Given the description of an element on the screen output the (x, y) to click on. 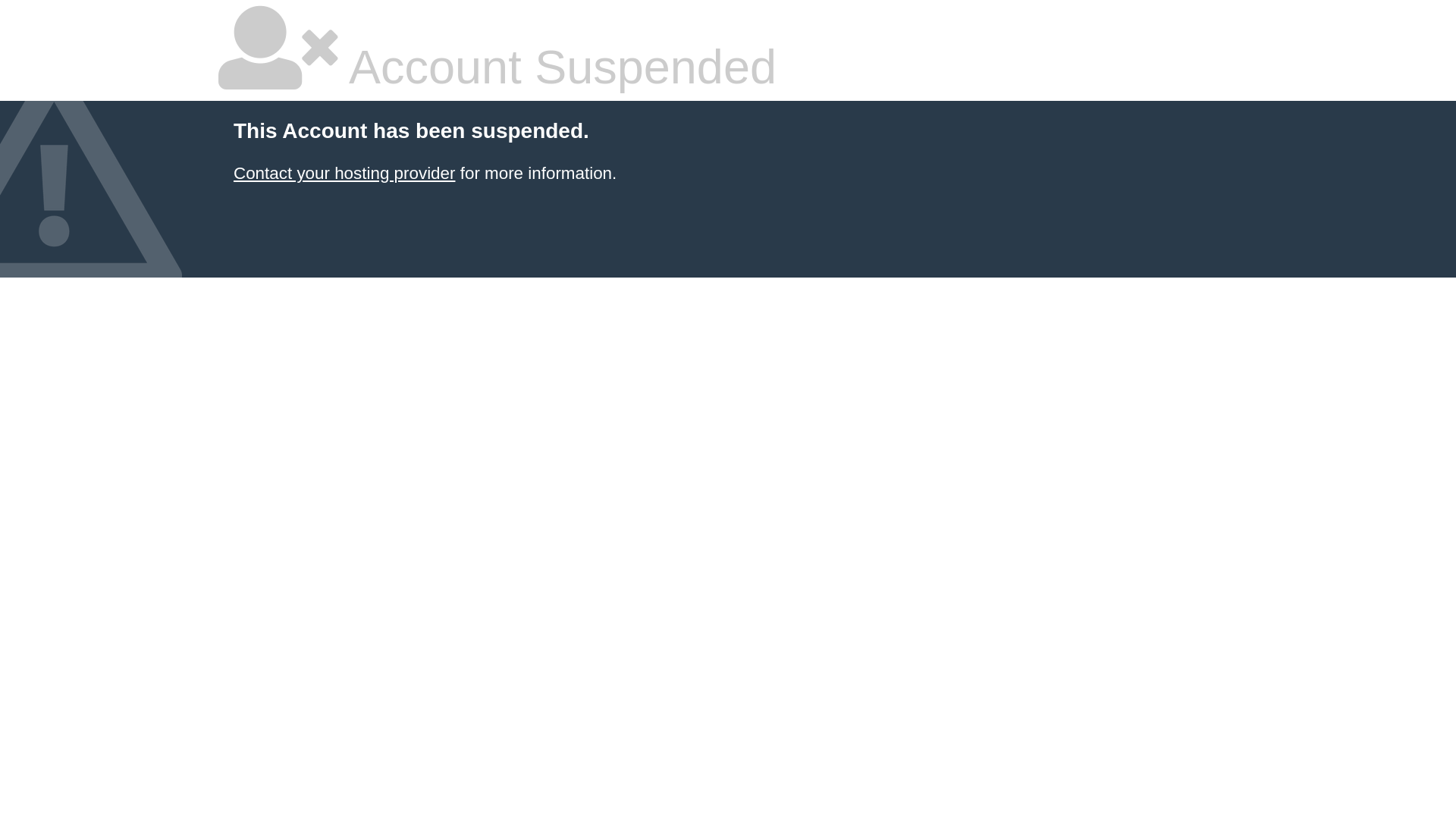
Contact your hosting provider Element type: text (344, 172)
